Given the description of an element on the screen output the (x, y) to click on. 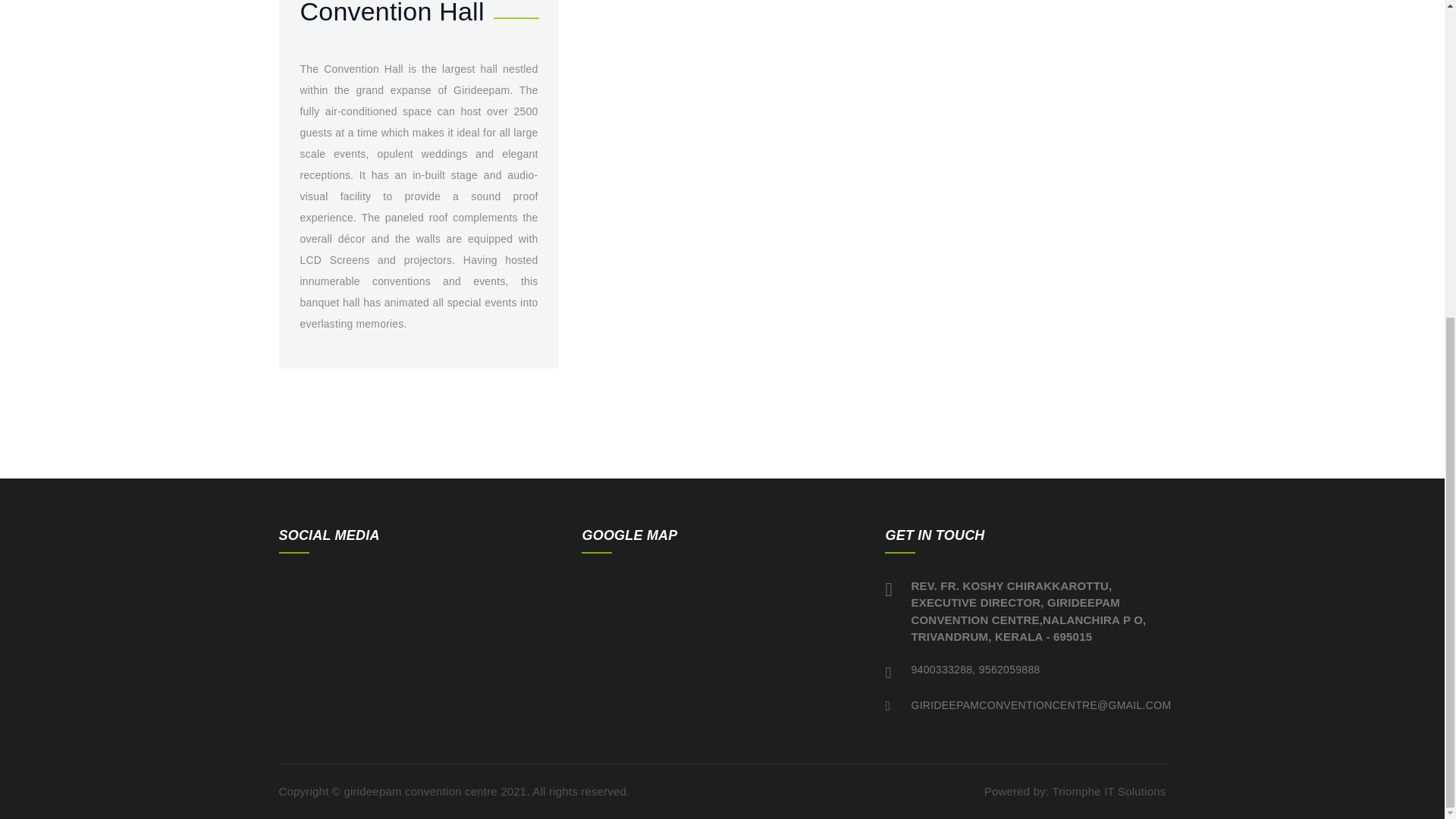
Triomphe IT Solutions (1108, 790)
9400333288, 9562059888 (975, 669)
